Given the description of an element on the screen output the (x, y) to click on. 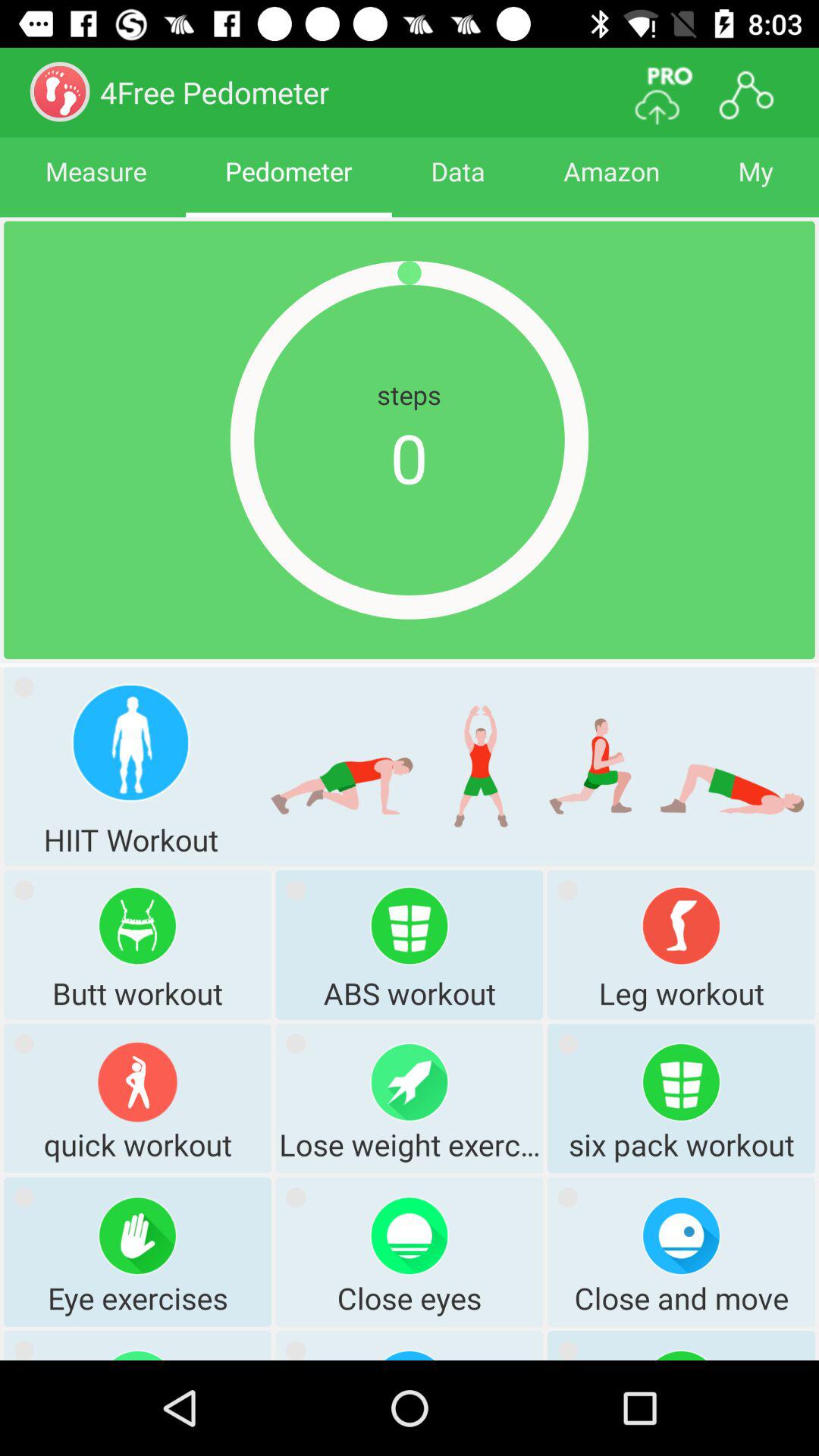
open the app to the right of the data icon (611, 185)
